Given the description of an element on the screen output the (x, y) to click on. 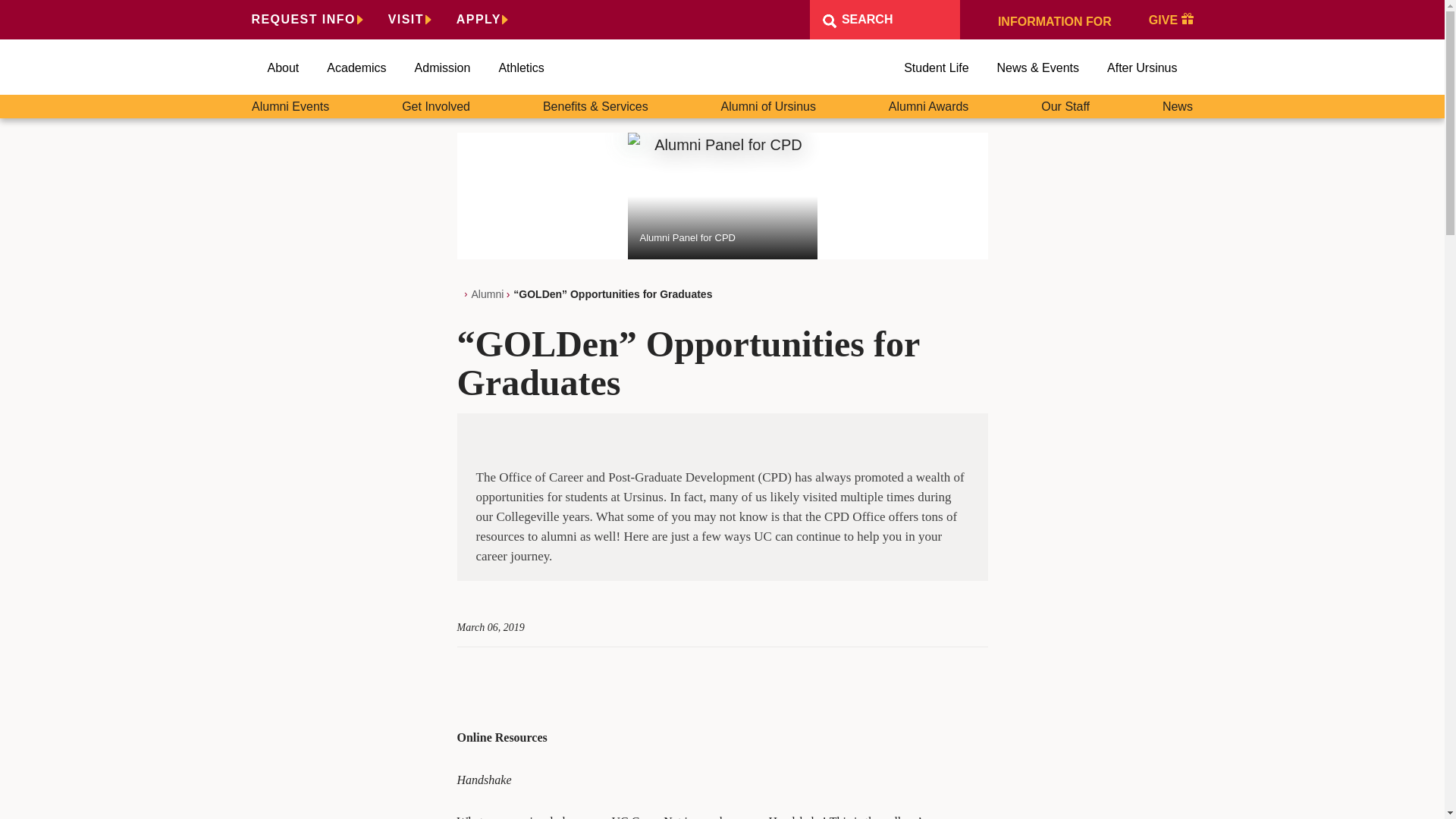
Alumni (487, 294)
Alumni of Ursinus (767, 106)
Student Life (936, 67)
GIVE (1170, 19)
Academics (355, 67)
Ursinus College (723, 67)
About (282, 67)
Our Staff (1065, 106)
INFORMATION FOR (1054, 19)
APPLY (482, 19)
Alumni Events (290, 106)
After Ursinus (1141, 67)
Search Bar (884, 19)
VISIT (409, 19)
REQUEST INFO (306, 19)
